Given the description of an element on the screen output the (x, y) to click on. 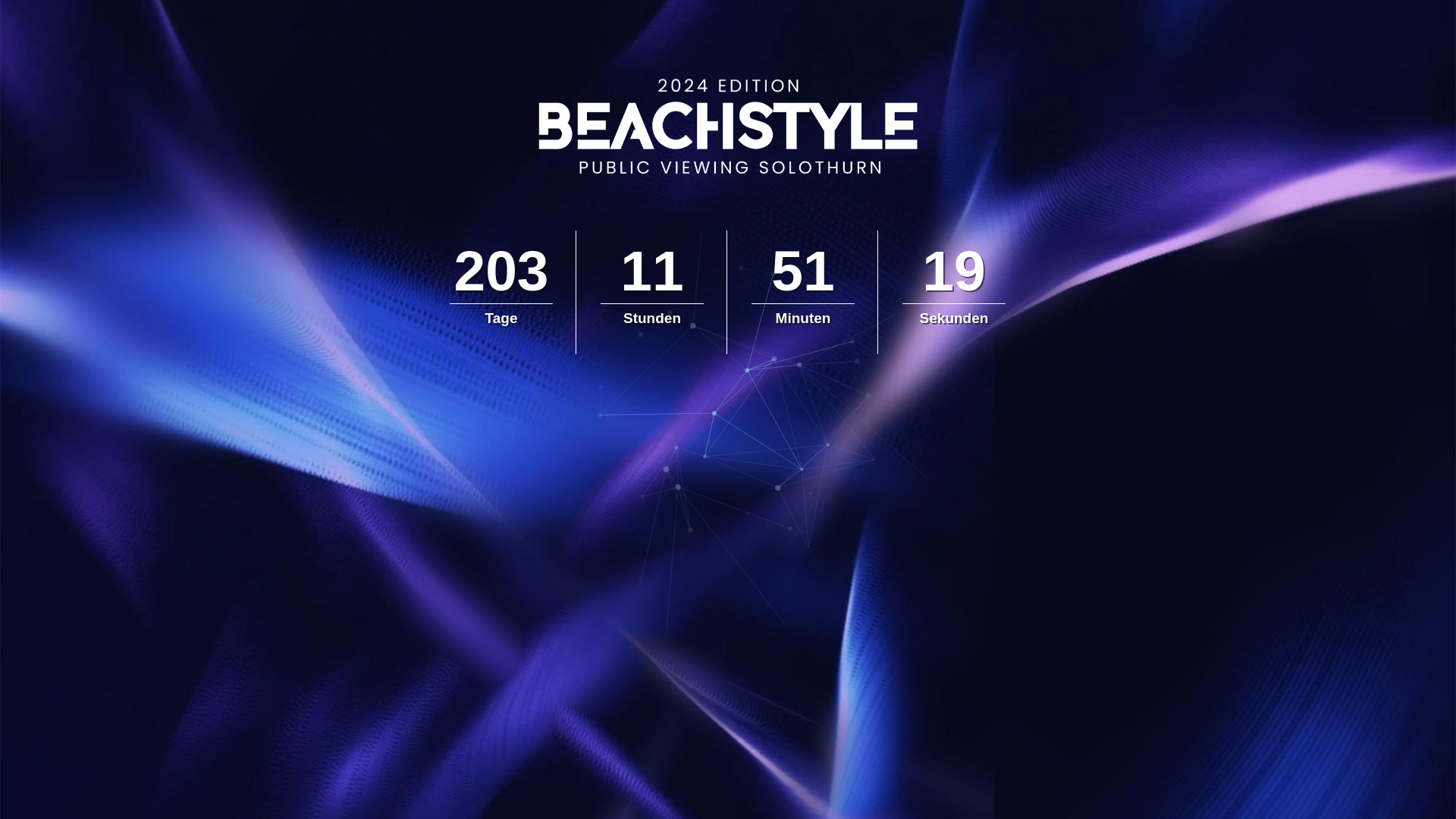
Send Element type: text (764, 222)
